Given the description of an element on the screen output the (x, y) to click on. 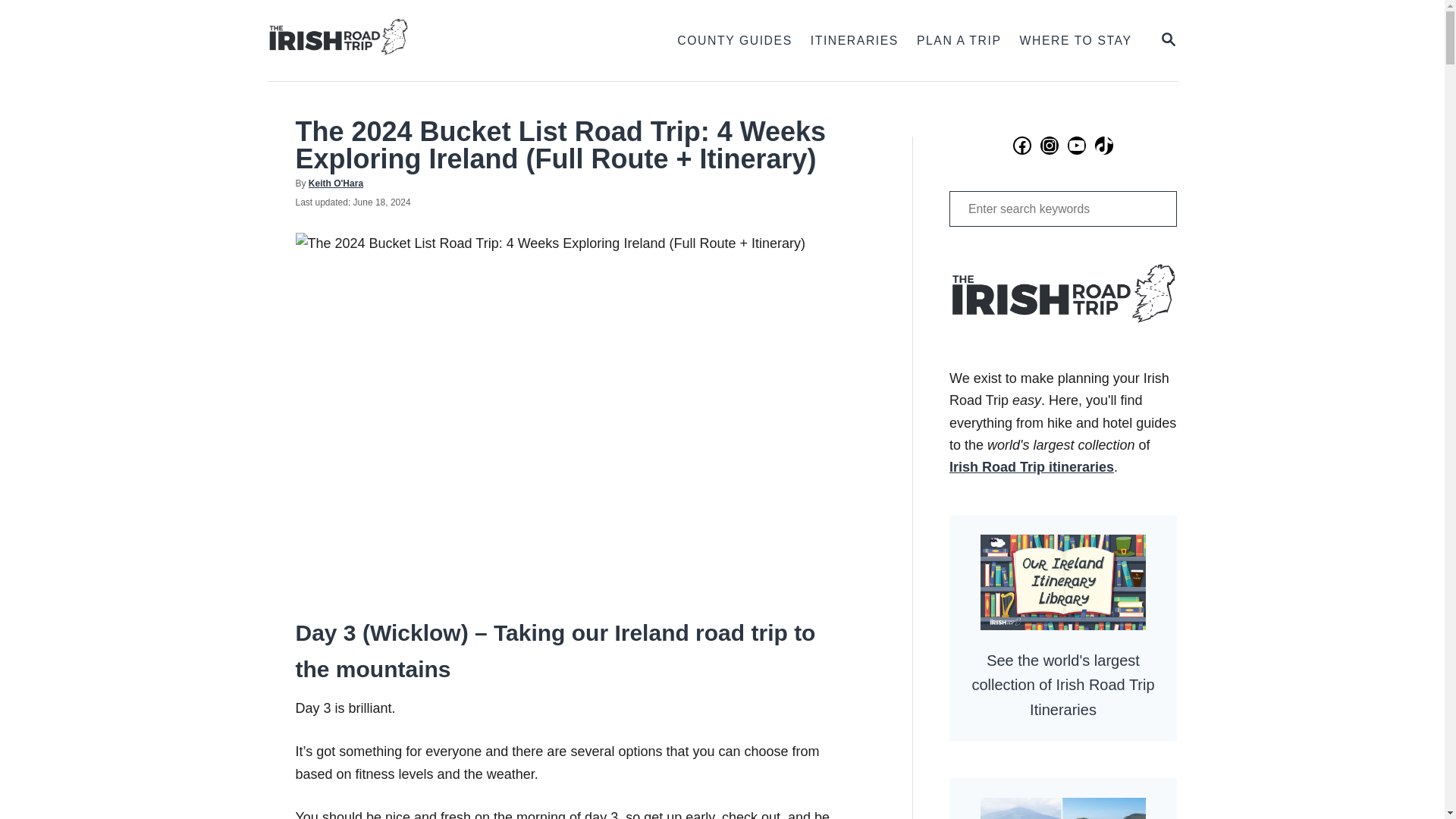
WHERE TO STAY (1075, 40)
PLAN A TRIP (958, 40)
COUNTY GUIDES (734, 40)
Search for: (1167, 40)
Keith O'Hara (1062, 208)
MAGNIFYING GLASS (335, 183)
The Irish Road Trip (1167, 39)
ITINERARIES (423, 40)
